Given the description of an element on the screen output the (x, y) to click on. 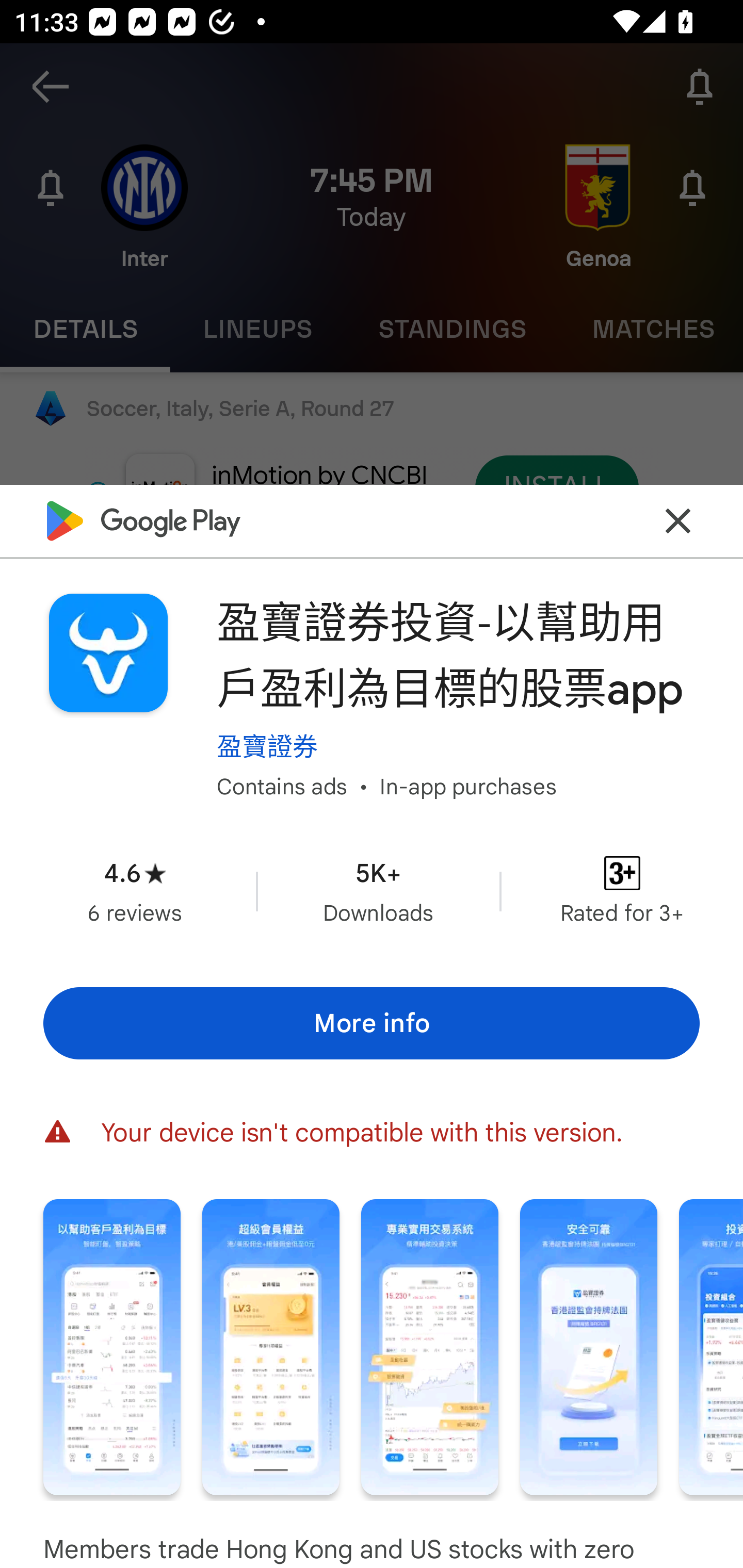
Close (677, 520)
盈寶證券 (267, 745)
More info (371, 1023)
Screenshot "1" of "8" (111, 1347)
Screenshot "2" of "8" (270, 1347)
Screenshot "3" of "8" (429, 1347)
Screenshot "4" of "8" (588, 1347)
